Given the description of an element on the screen output the (x, y) to click on. 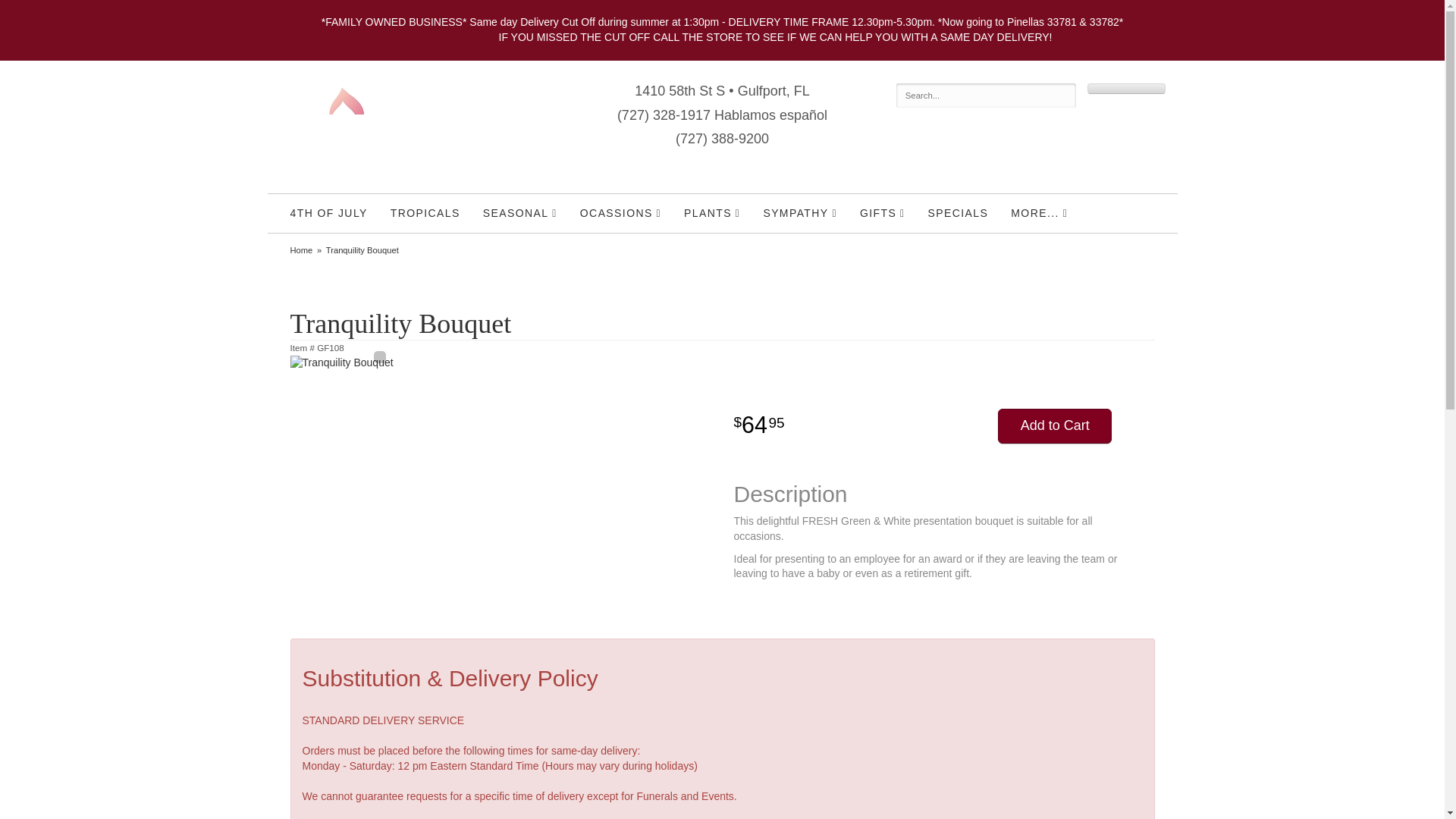
TROPICALS (424, 212)
SEASONAL (520, 213)
GIFTS (882, 213)
4TH OF JULY (328, 212)
SYMPATHY (799, 213)
PLANTS (711, 213)
MORE... (1038, 213)
OCASSIONS (620, 213)
SPECIALS (958, 212)
